Given the description of an element on the screen output the (x, y) to click on. 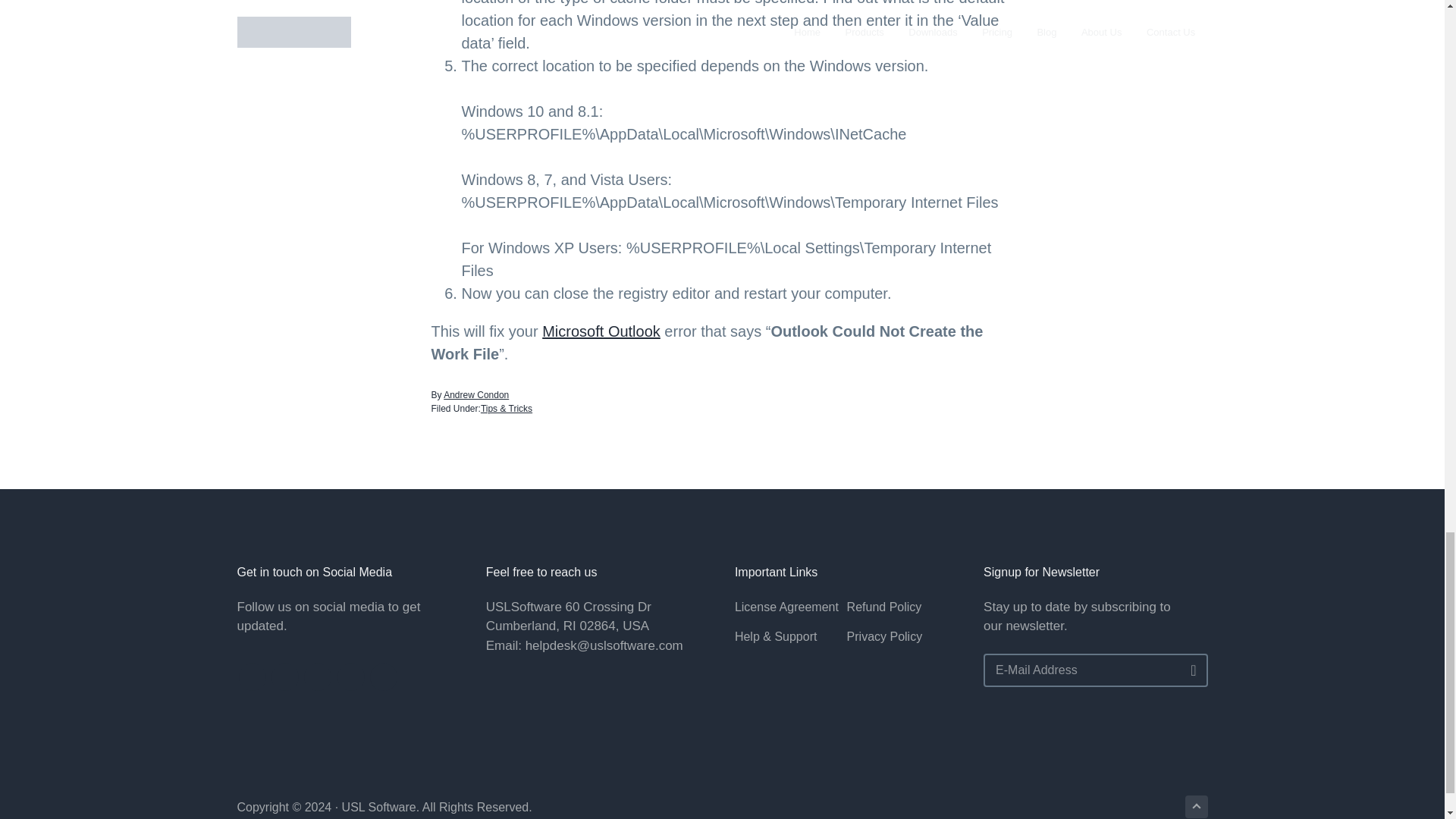
Refund Policy (903, 607)
Microsoft Outlook (601, 330)
Go (1188, 671)
License Agreement (791, 607)
Privacy Policy (903, 637)
Andrew Condon (476, 394)
Go (1188, 671)
